Given the description of an element on the screen output the (x, y) to click on. 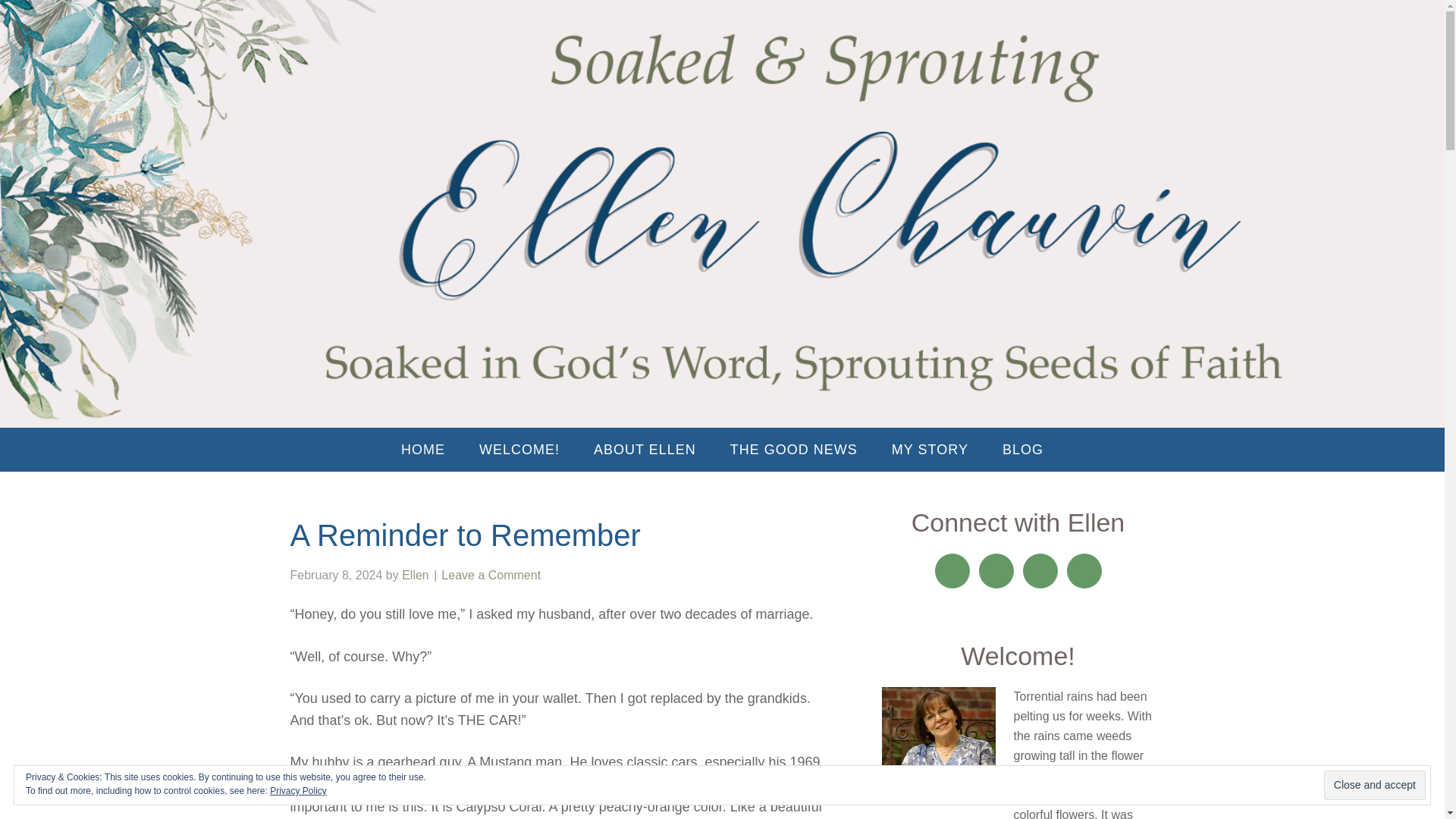
BLOG (1022, 449)
Leave a Comment (490, 574)
A Reminder to Remember (464, 535)
Ellen (415, 574)
WELCOME! (519, 449)
MY STORY (930, 449)
THE GOOD NEWS (793, 449)
ABOUT ELLEN (644, 449)
Close and accept (1374, 785)
Close and accept (1374, 785)
Privacy Policy (297, 790)
HOME (422, 449)
